Given the description of an element on the screen output the (x, y) to click on. 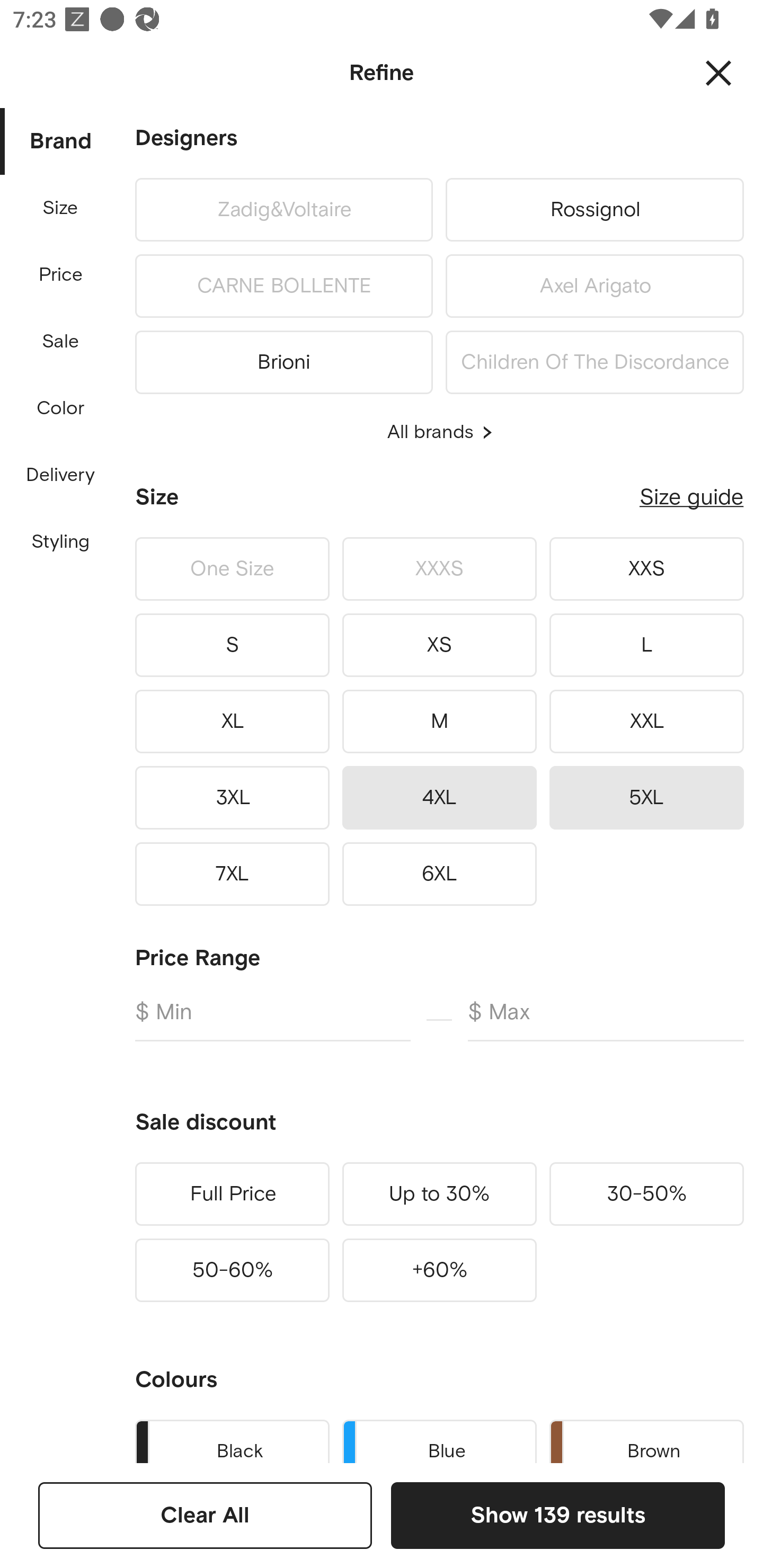
Brand (60, 141)
Size (60, 208)
Zadig&Voltaire (283, 208)
Rossignol (594, 208)
Price (60, 274)
CARNE BOLLENTE (283, 285)
Axel Arigato (594, 285)
Sale (60, 342)
Brioni (283, 358)
Children Of The Discordance (594, 358)
Color (60, 408)
All brands (439, 431)
Delivery (60, 475)
Size guide (691, 496)
Styling (60, 542)
One Size (232, 568)
XXXS (439, 568)
XXS (646, 568)
S (232, 644)
XS (439, 644)
L (646, 644)
XL (232, 720)
M (439, 720)
XXL (646, 720)
3XL (232, 796)
4XL (439, 796)
5XL (646, 796)
7XL (232, 873)
6XL (439, 873)
$ Min (272, 1019)
$ Max (605, 1019)
Full Price (232, 1193)
Up to 30% (439, 1193)
30-50% (646, 1193)
50-60% (232, 1269)
+60% (439, 1269)
Black (232, 1437)
Blue (439, 1437)
Brown (646, 1437)
Clear All (205, 1515)
Show 139 results (557, 1515)
